Given the description of an element on the screen output the (x, y) to click on. 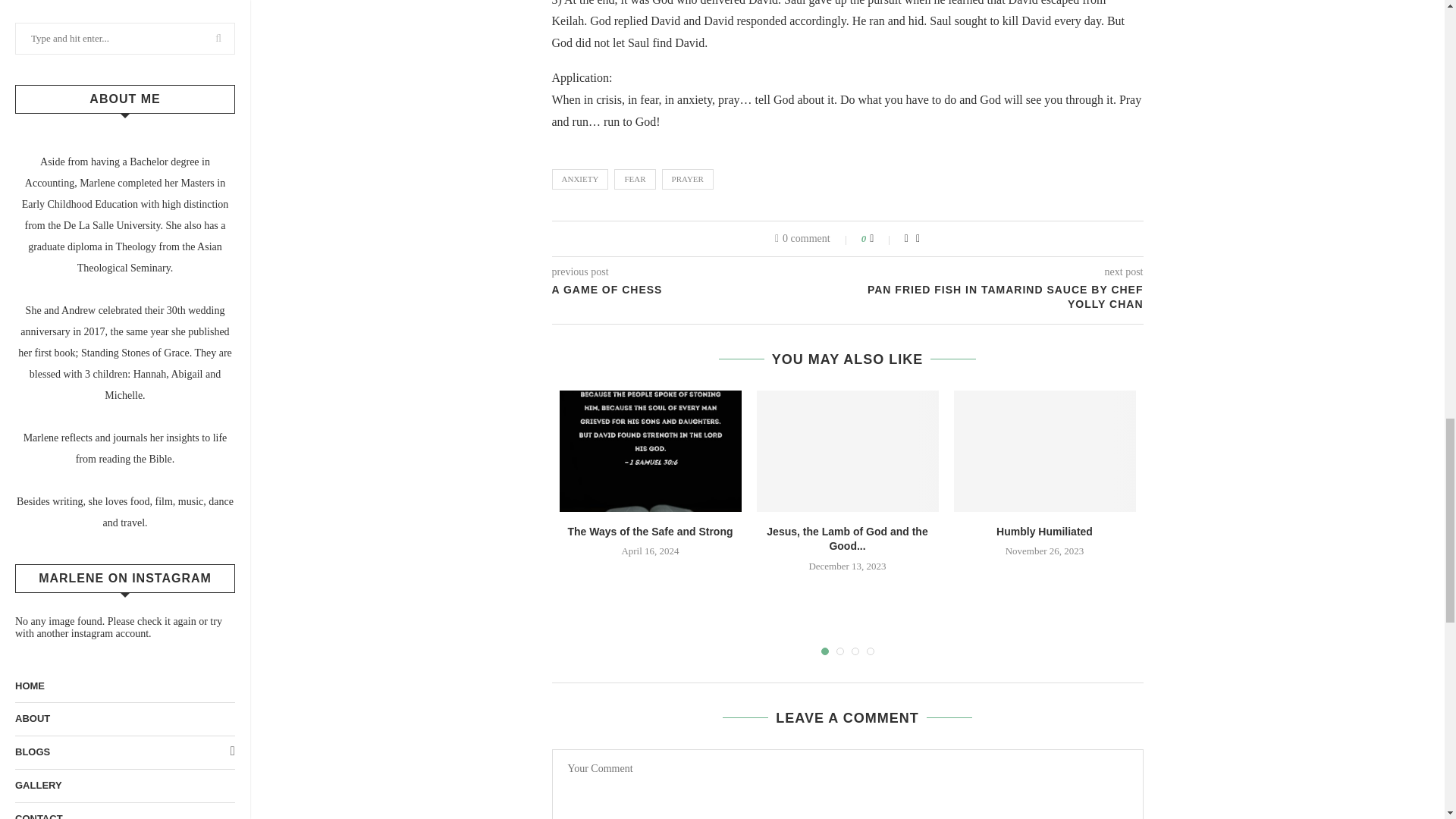
The Ways of the Safe and Strong (650, 450)
Jesus, the Lamb of God and the Good Shepherd (848, 450)
FEAR (634, 178)
Humbly Humiliated (1044, 450)
PRAYER (687, 178)
ANXIETY (579, 178)
Like (881, 238)
